Given the description of an element on the screen output the (x, y) to click on. 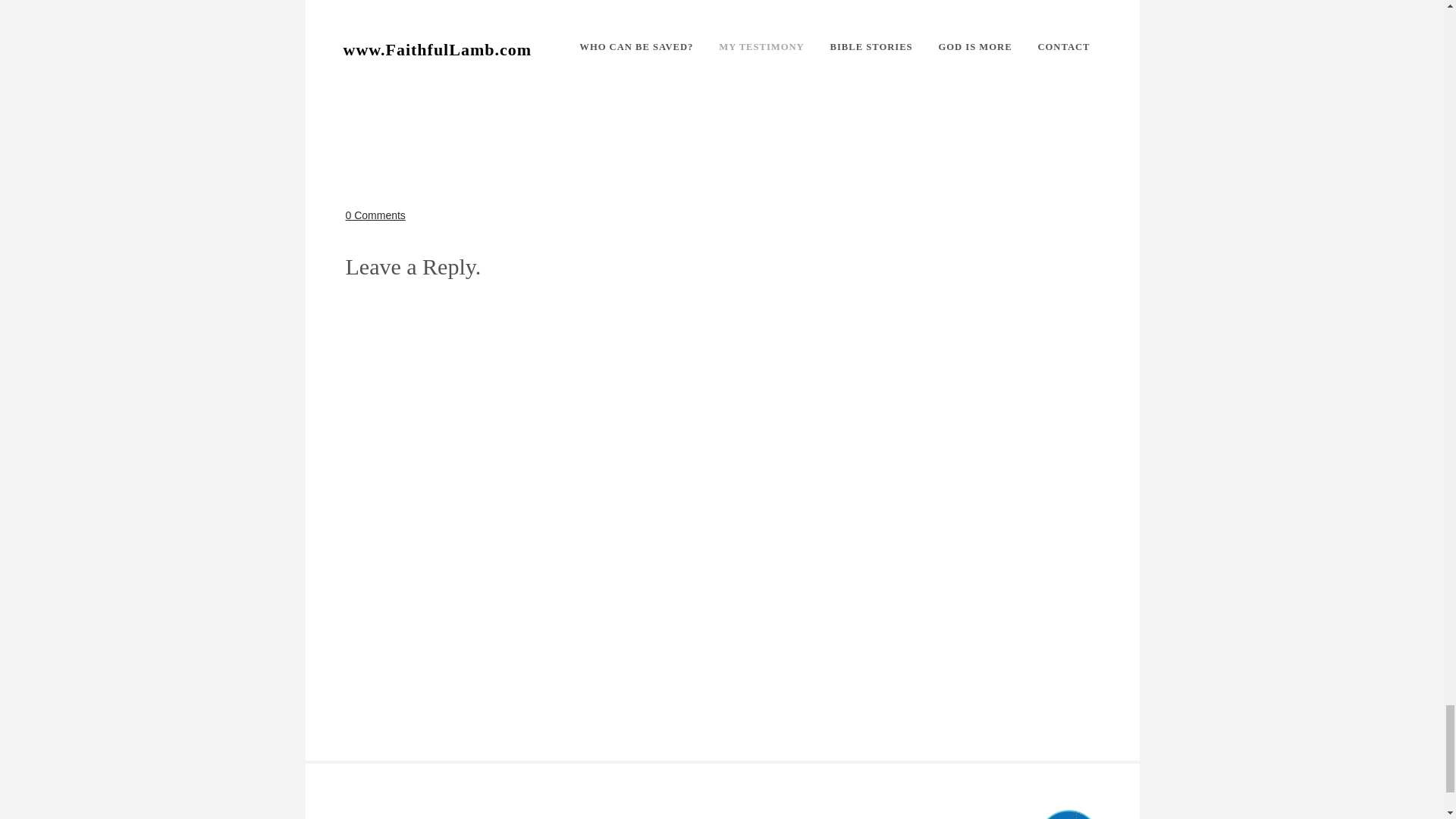
0 Comments (376, 215)
